Given the description of an element on the screen output the (x, y) to click on. 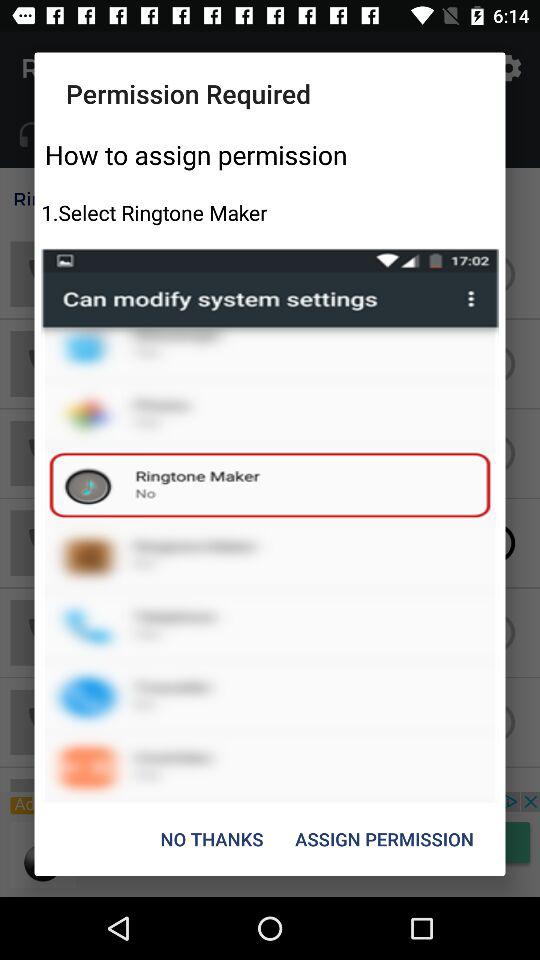
choose the no thanks icon (211, 838)
